Given the description of an element on the screen output the (x, y) to click on. 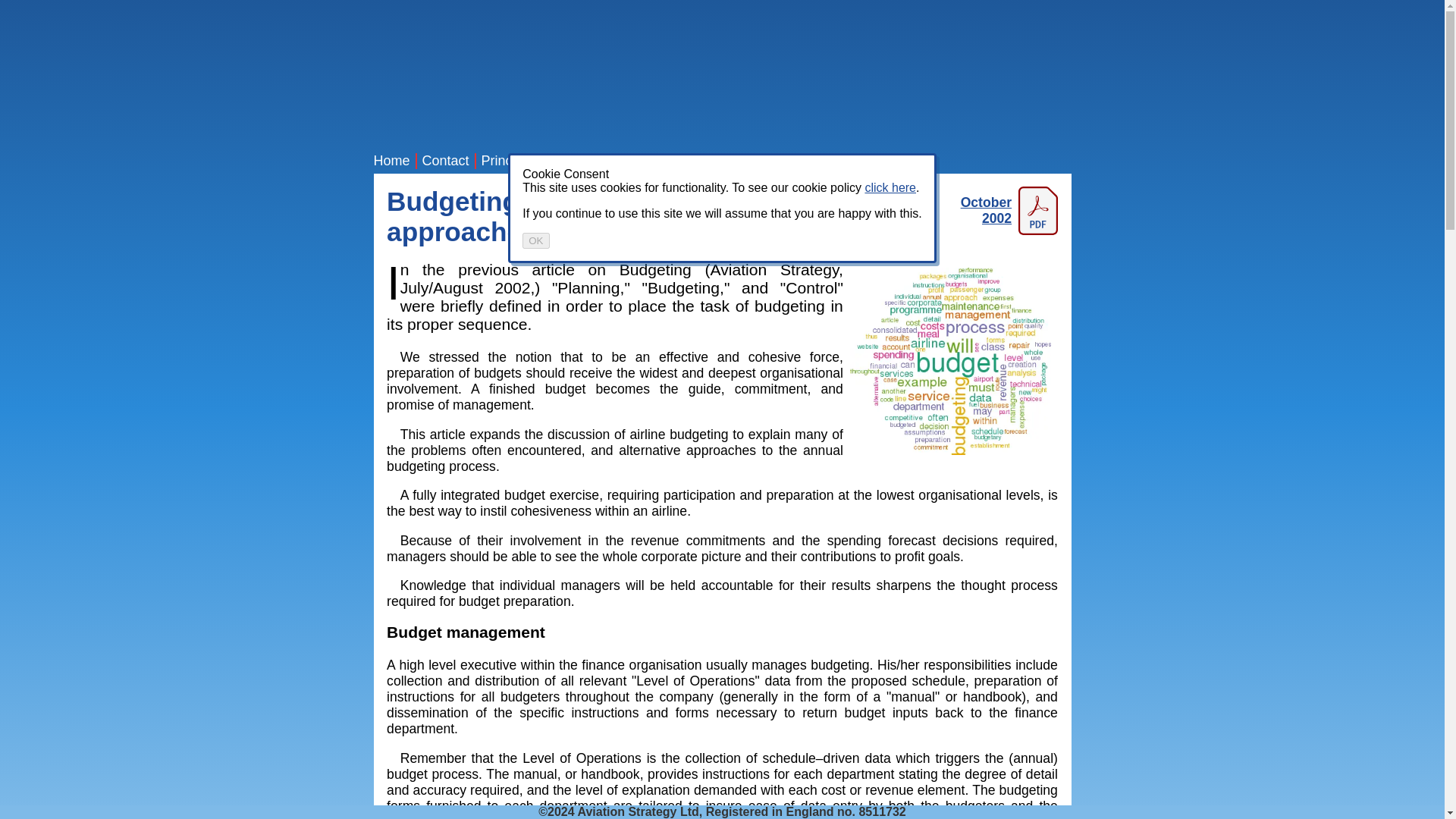
Principals (510, 160)
October 2002 (998, 210)
Credentials (587, 160)
Download PDF (998, 210)
OK (535, 240)
Insights (806, 160)
click here (889, 187)
Home (390, 160)
Contact (445, 160)
Subscribe (740, 160)
